Given the description of an element on the screen output the (x, y) to click on. 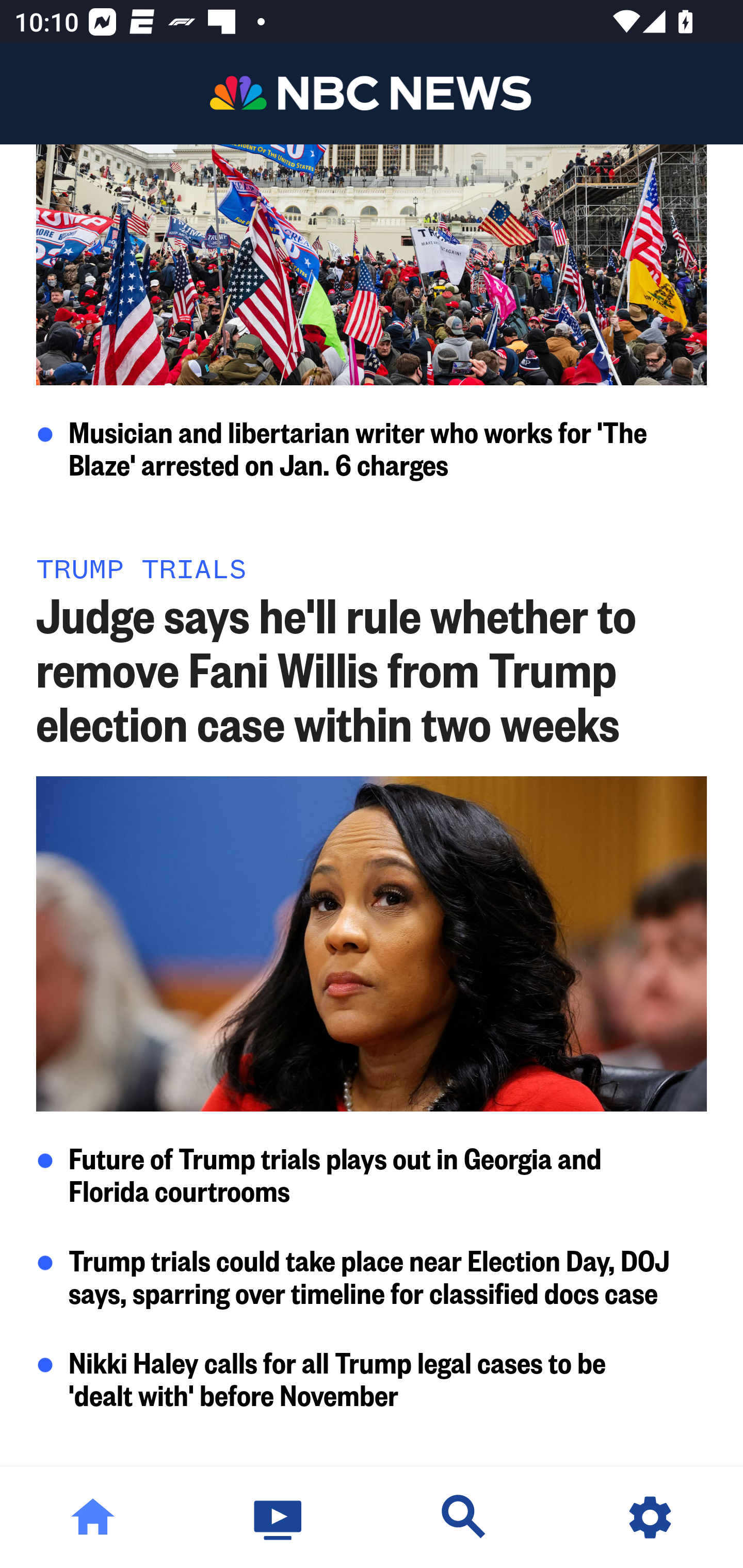
Watch (278, 1517)
Discover (464, 1517)
Settings (650, 1517)
